Given the description of an element on the screen output the (x, y) to click on. 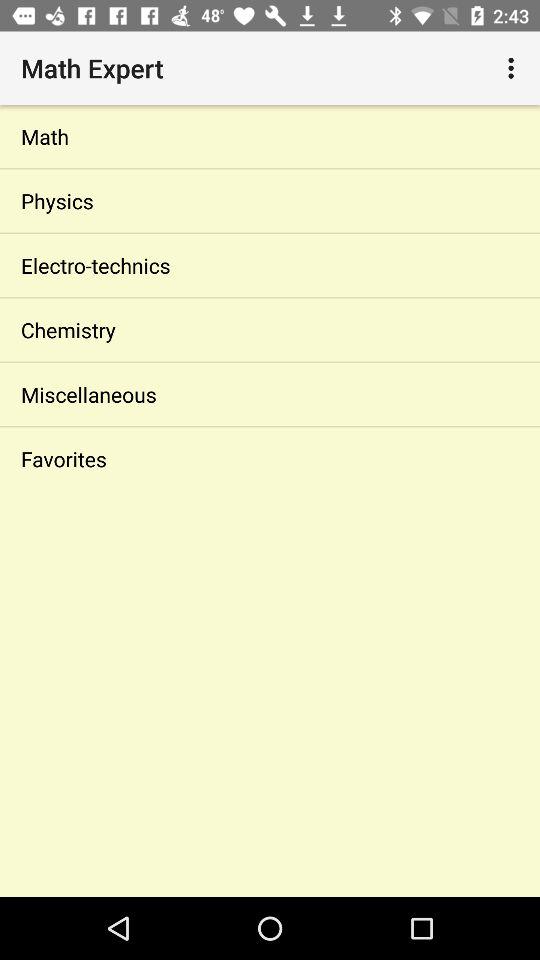
open the icon below the physics icon (270, 265)
